Given the description of an element on the screen output the (x, y) to click on. 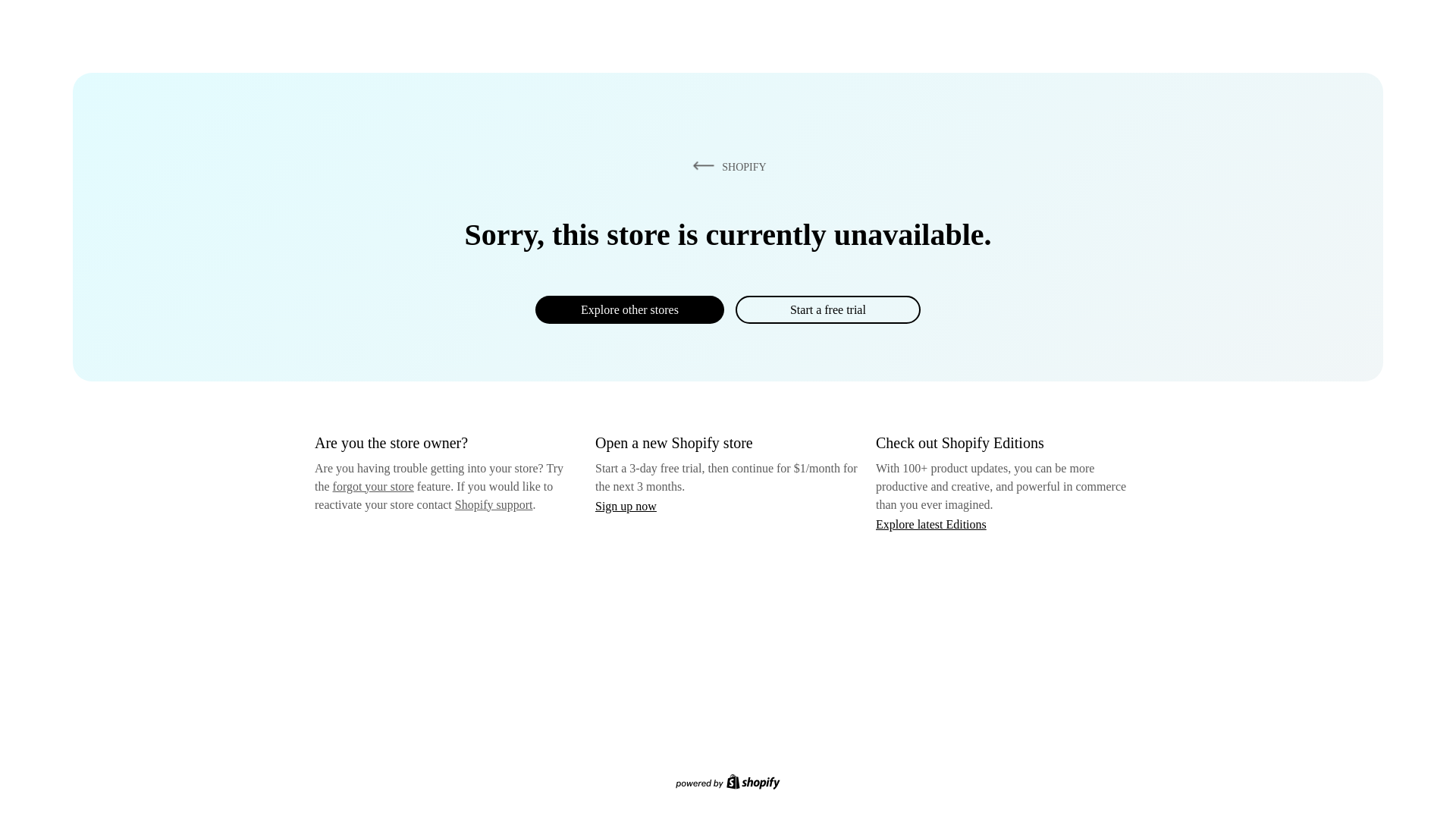
Shopify support (493, 504)
forgot your store (373, 486)
Explore other stores (629, 309)
SHOPIFY (726, 166)
Sign up now (625, 505)
Explore latest Editions (931, 523)
Start a free trial (827, 309)
